Given the description of an element on the screen output the (x, y) to click on. 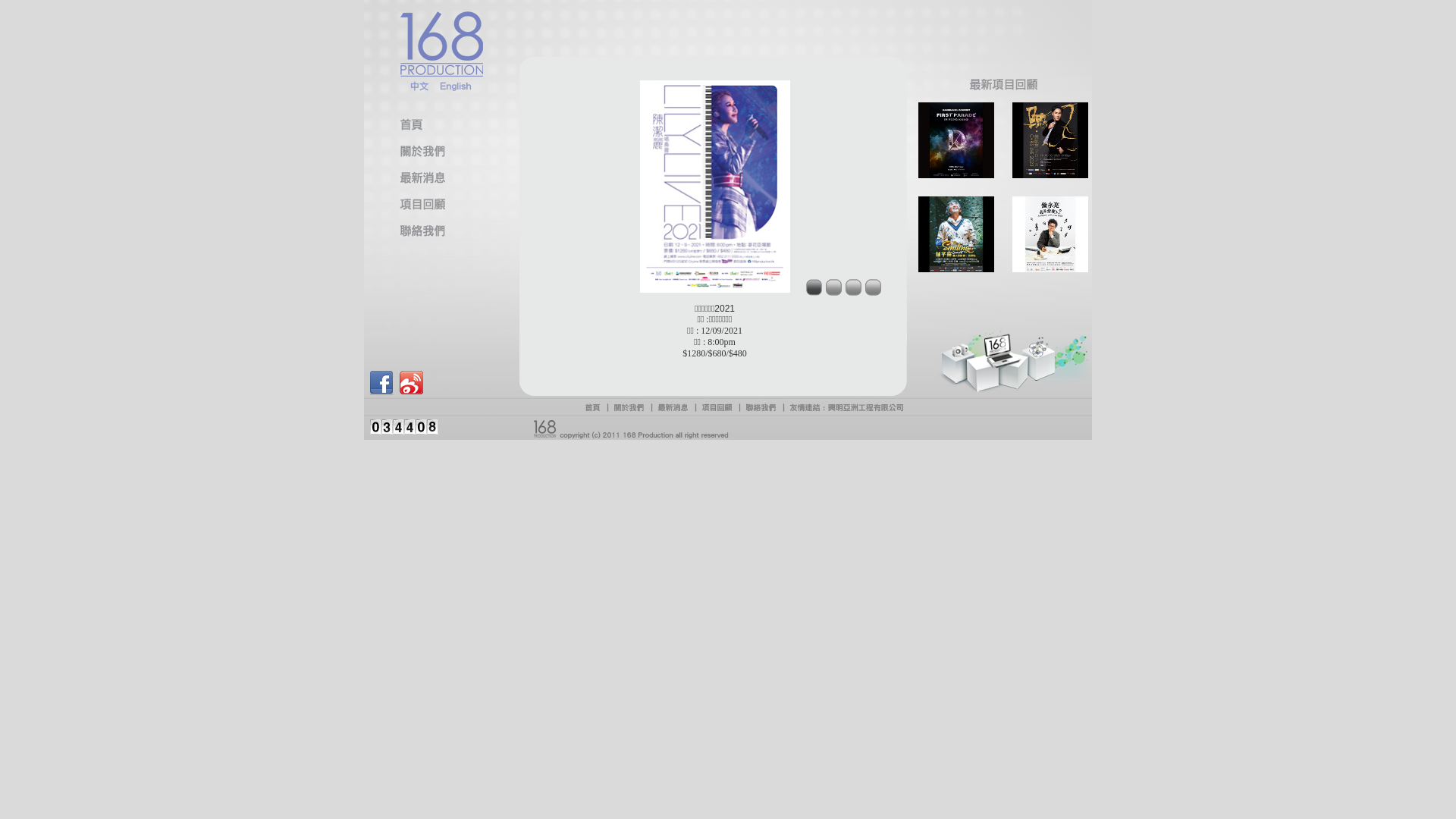
Wind Mobile Element type: hover (404, 426)
